Given the description of an element on the screen output the (x, y) to click on. 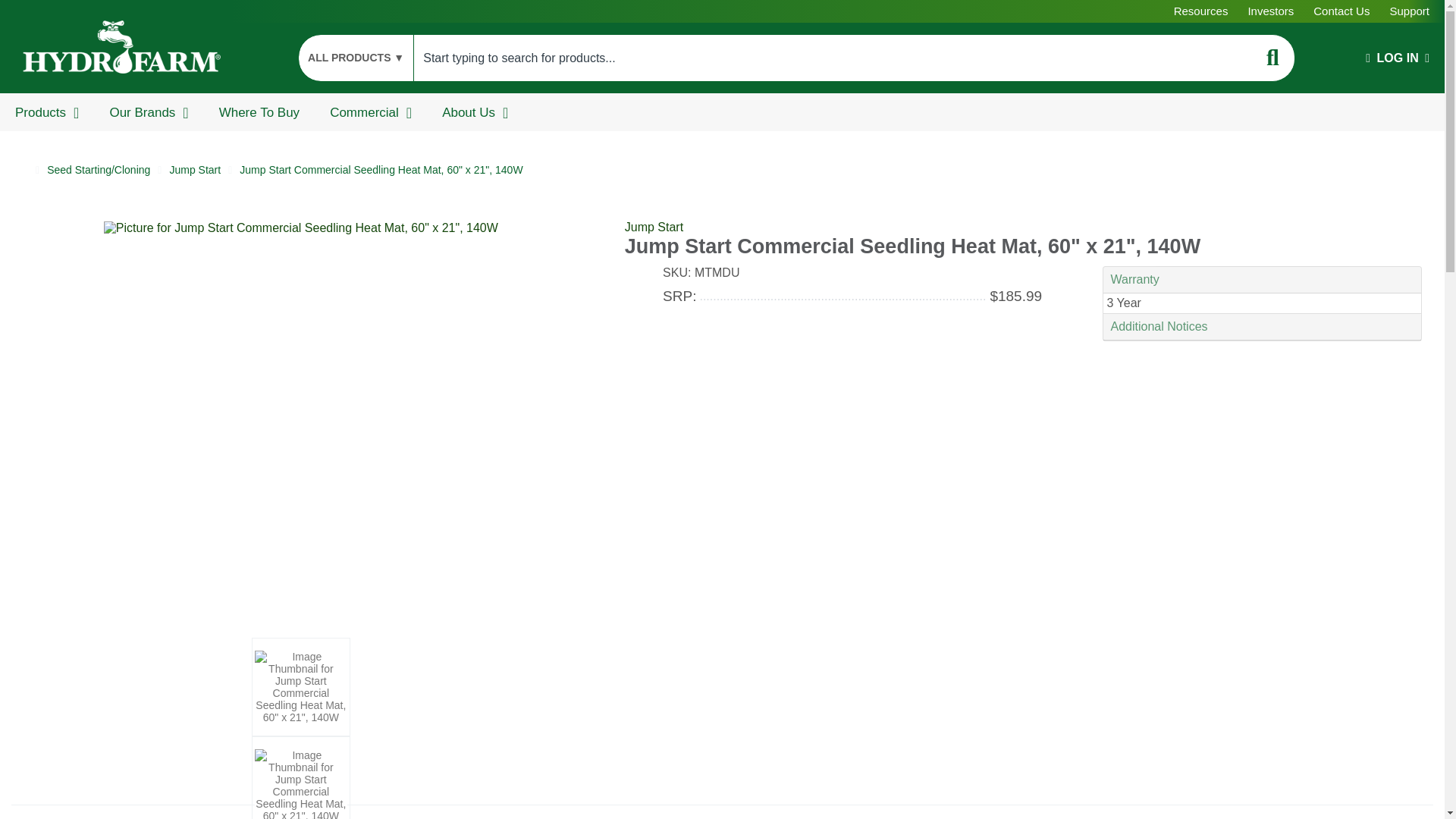
Resources (1200, 11)
Investors (1270, 11)
Products (46, 112)
Contact Us (1341, 11)
Support (1409, 11)
LOG IN (1397, 57)
